Given the description of an element on the screen output the (x, y) to click on. 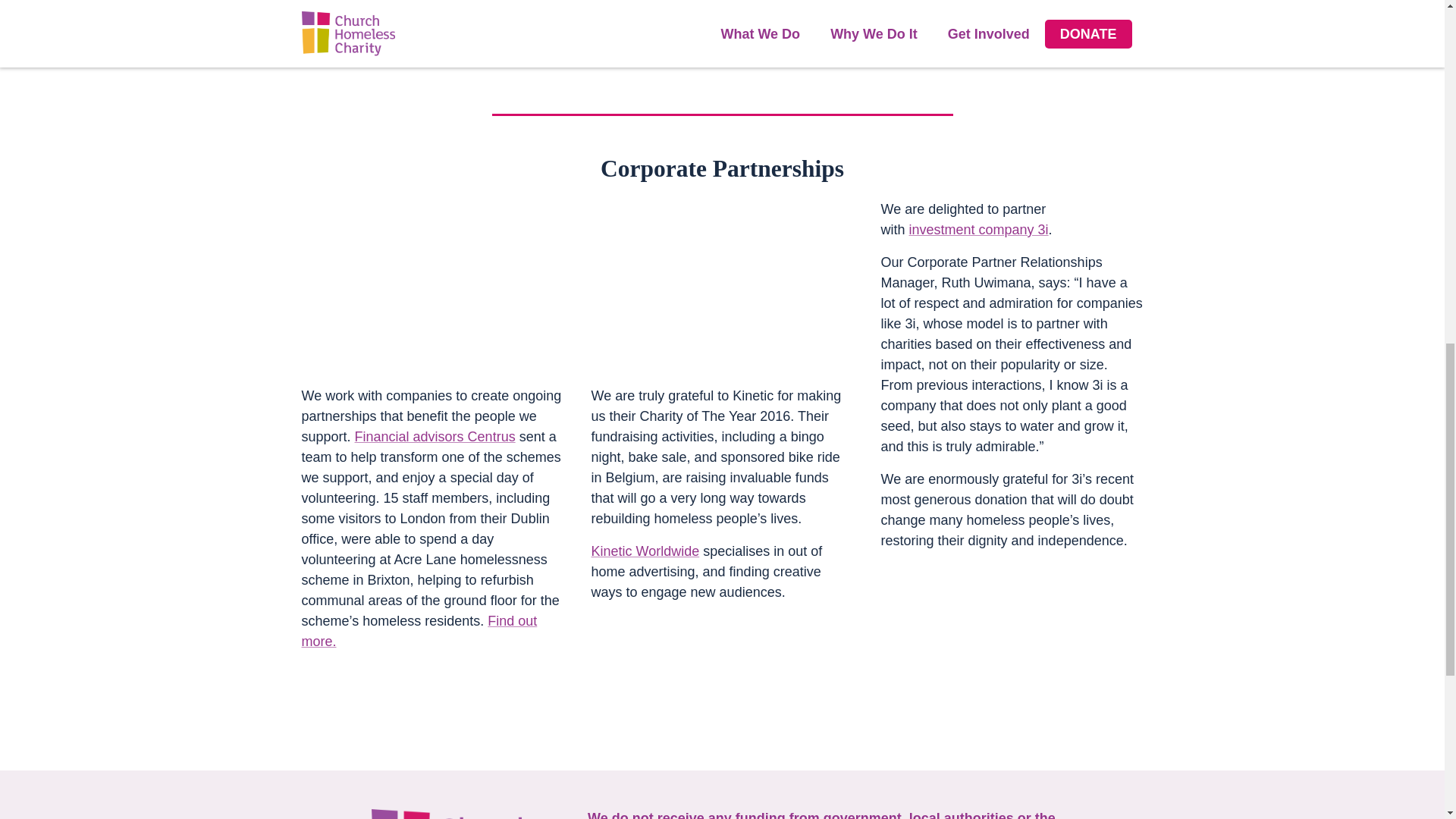
Financial advisors Centrus (435, 436)
Find out more. (419, 631)
investment company 3i (978, 229)
Kinetic Worldwide (645, 550)
